Given the description of an element on the screen output the (x, y) to click on. 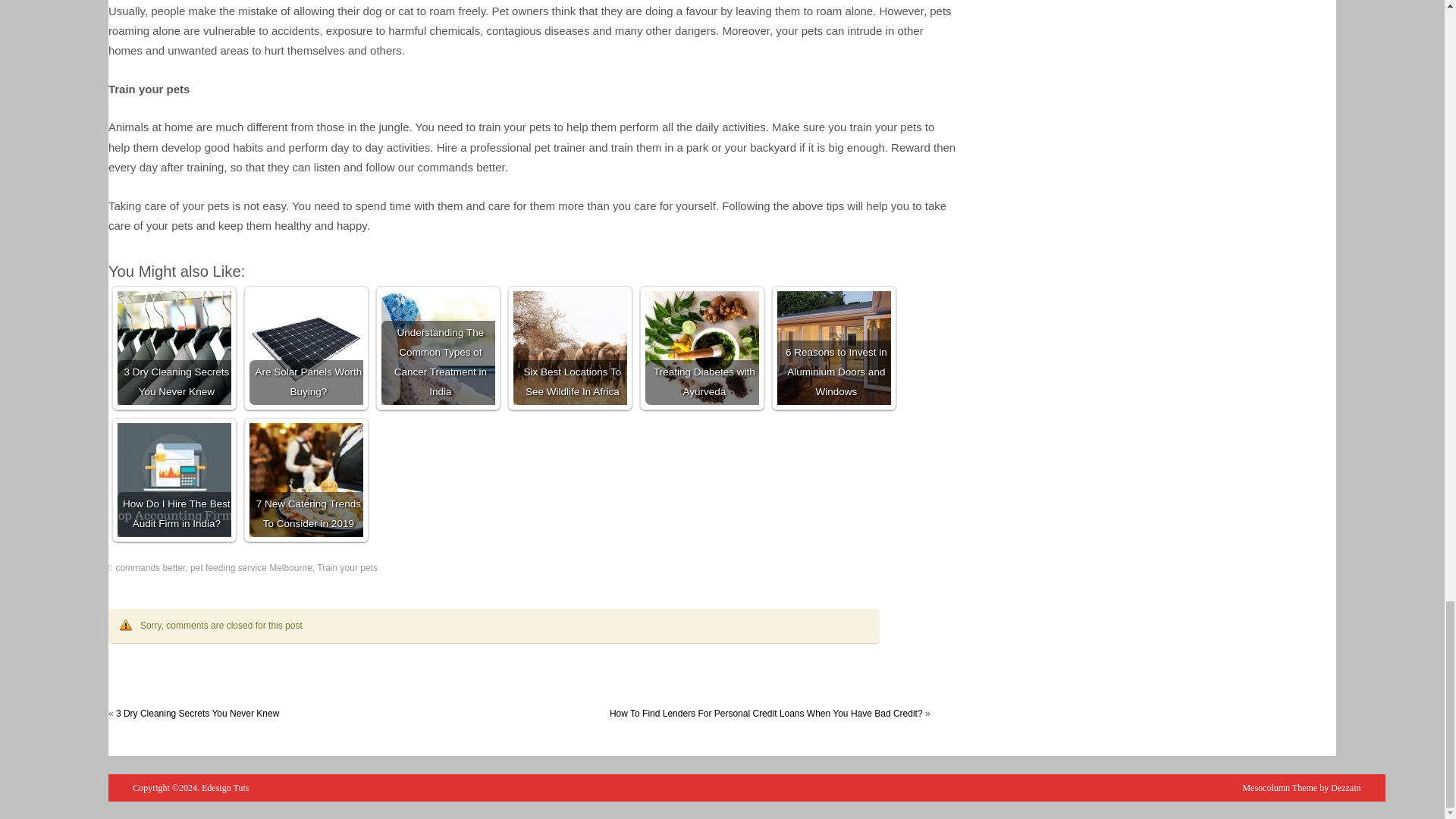
pet feeding service Melbourne (251, 567)
3 Dry Cleaning Secrets You Never Knew (197, 713)
Six Best Locations To See Wildlife In Africa (570, 347)
Six Best Locations To See Wildlife In Africa (570, 347)
3 Dry Cleaning Secrets You Never Knew (174, 347)
How Do I Hire The Best Audit Firm in India? (174, 480)
How Do I Hire The Best Audit Firm in India? (174, 480)
7 New Catering Trends To Consider in 2019 (305, 480)
Understanding The Common Types of Cancer Treatment in India (438, 347)
6 Reasons to Invest in Aluminium Doors and Windows (834, 347)
Treating Diabetes with Ayurveda (701, 347)
3 Dry Cleaning Secrets You Never Knew (174, 347)
6 Reasons to Invest in Aluminium Doors and Windows (834, 347)
commands better (149, 567)
Treating Diabetes with Ayurveda (701, 347)
